Given the description of an element on the screen output the (x, y) to click on. 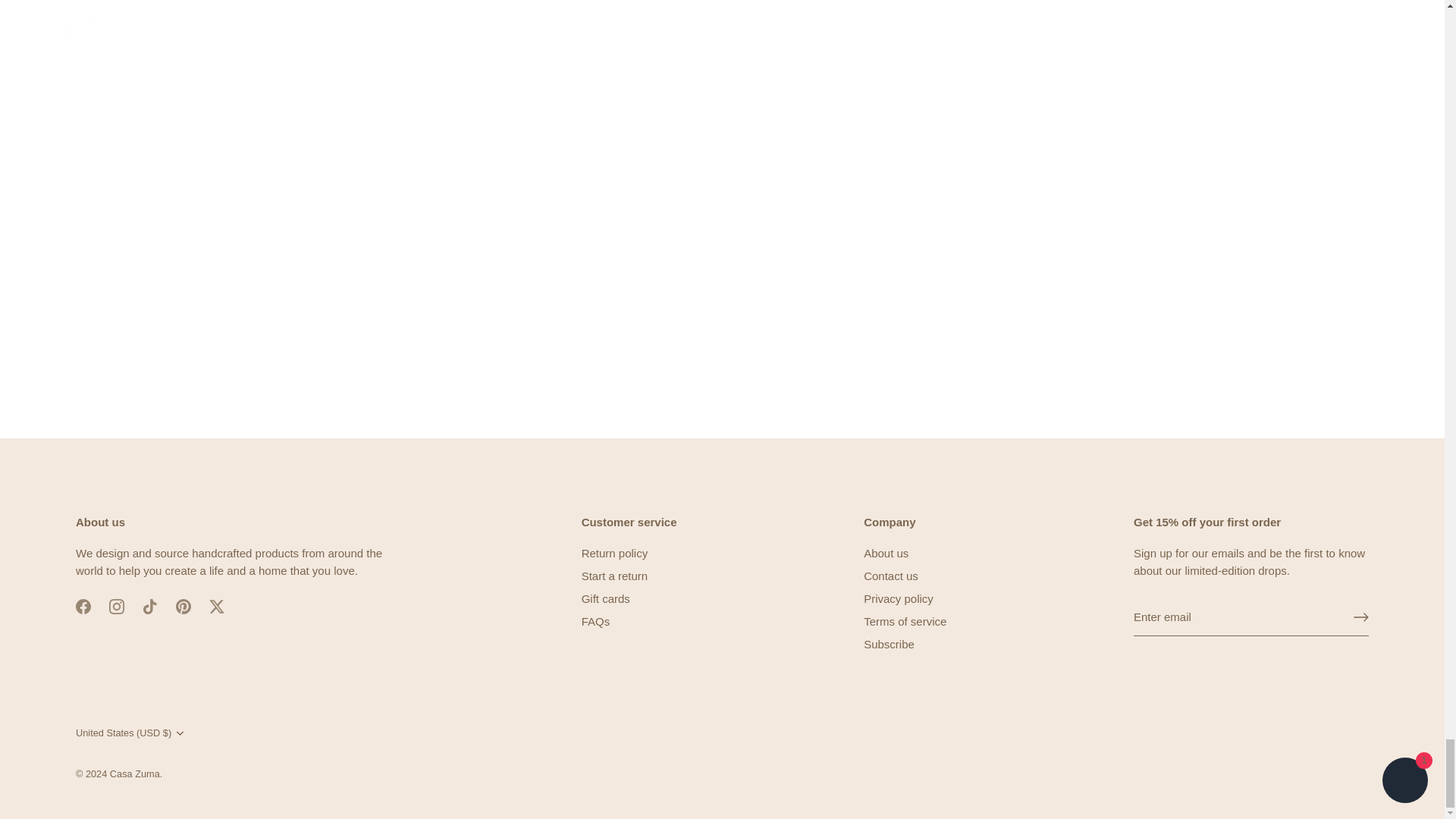
Instagram (116, 606)
Right arrow long (1361, 616)
Pinterest (183, 606)
